Given the description of an element on the screen output the (x, y) to click on. 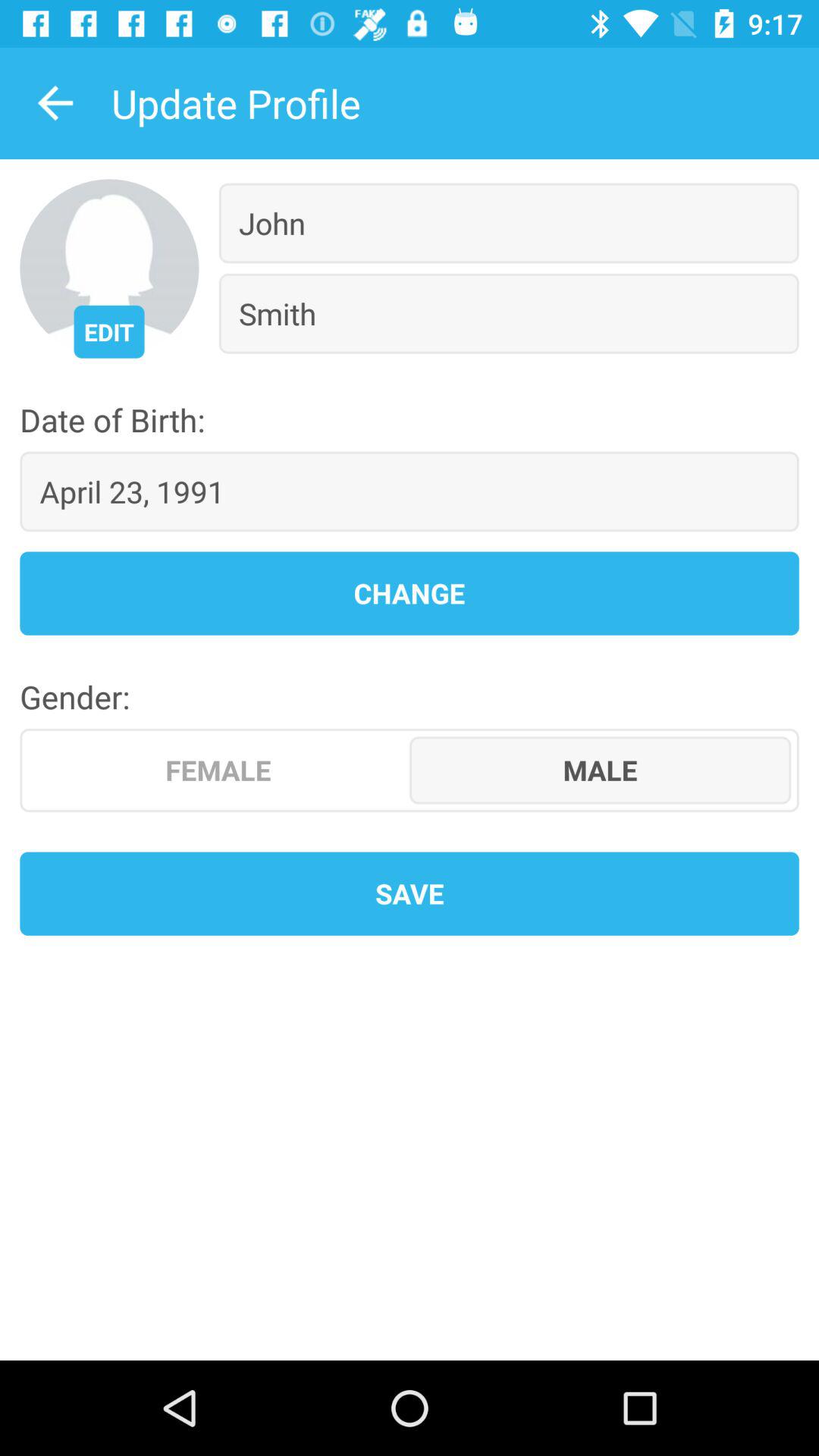
open item to the left of the smith icon (108, 331)
